Given the description of an element on the screen output the (x, y) to click on. 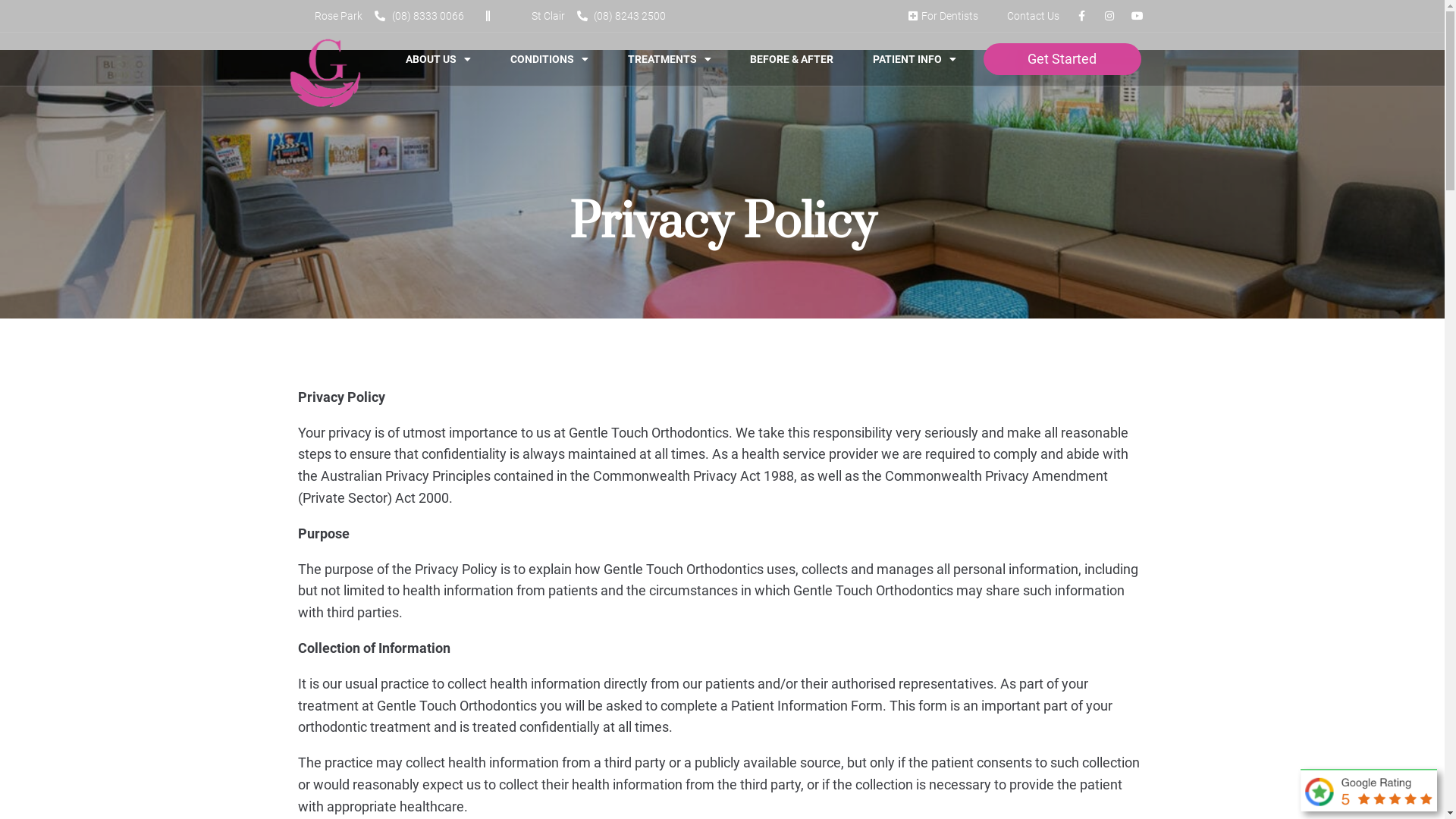
PATIENT INFO Element type: text (914, 58)
TREATMENTS Element type: text (669, 58)
St Clair Element type: text (539, 15)
For Dentists Element type: text (940, 15)
BEFORE & AFTER Element type: text (791, 58)
Rose Park Element type: text (329, 15)
(08) 8243 2500 Element type: text (620, 15)
Home Element type: text (290, 120)
(08) 8333 0066 Element type: text (423, 15)
CONDITIONS Element type: text (549, 58)
Contact Us Element type: text (1025, 15)
ABOUT US Element type: text (438, 58)
Get Started Element type: text (1062, 59)
